Given the description of an element on the screen output the (x, y) to click on. 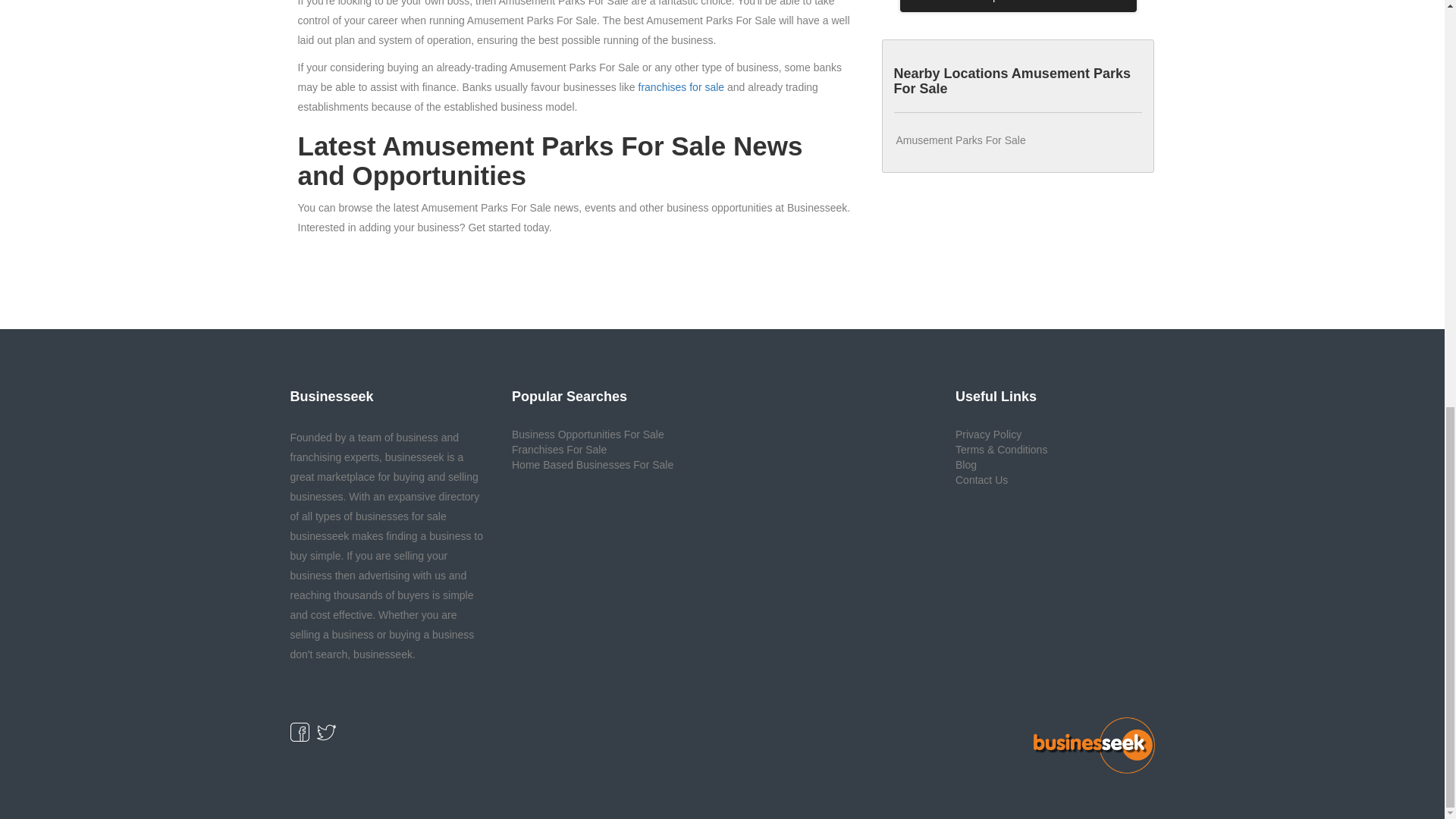
Directory of franchise opportunities in the UK (682, 87)
